Given the description of an element on the screen output the (x, y) to click on. 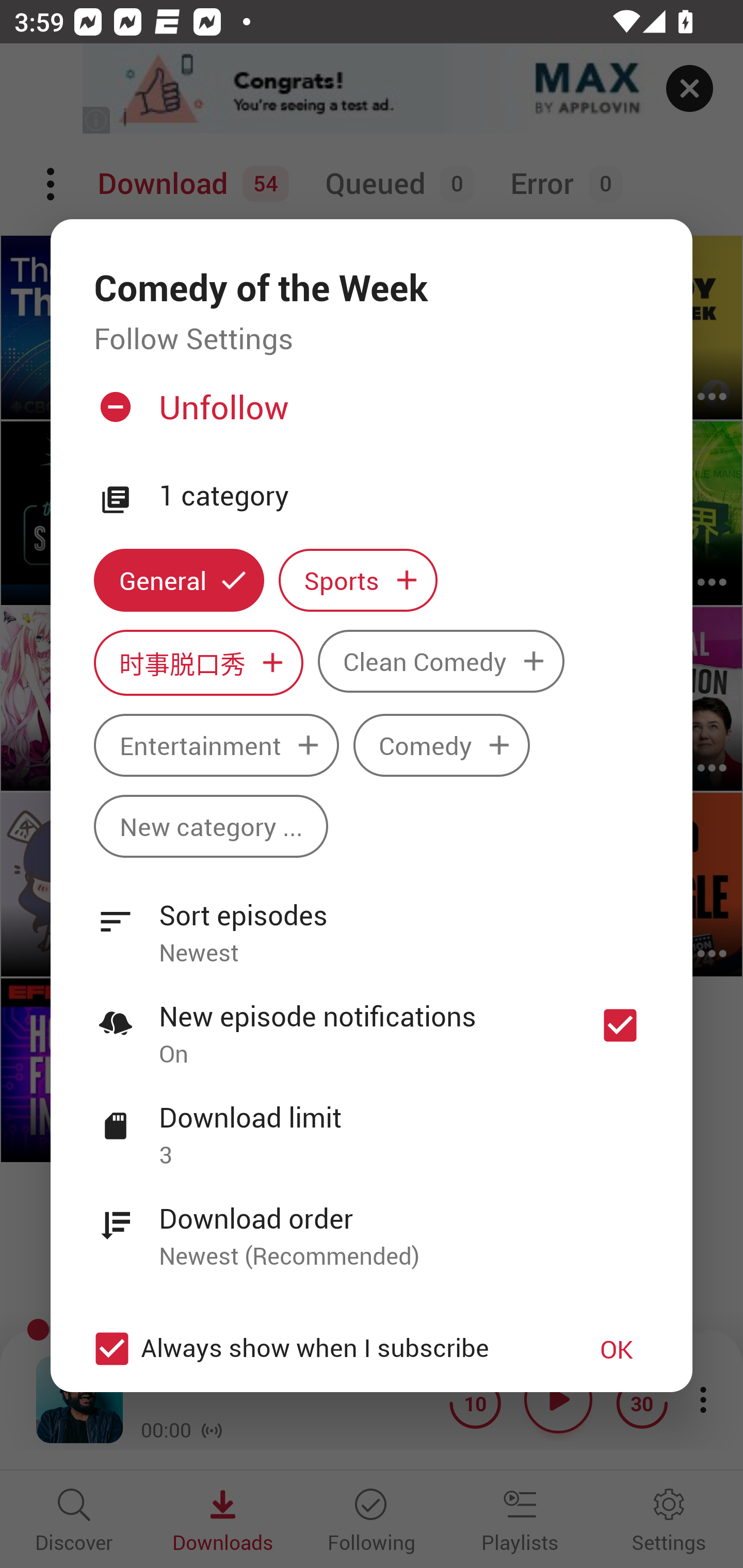
Unfollow (369, 415)
1 category (404, 495)
General (178, 579)
Sports (357, 579)
时事脱口秀 (198, 663)
Clean Comedy (441, 661)
Entertainment (215, 744)
Comedy (441, 744)
New category ... (210, 825)
Sort episodes Newest (371, 922)
New episode notifications (620, 1025)
Download limit 3 (371, 1125)
Download order Newest (Recommended) (371, 1226)
OK (616, 1349)
Always show when I subscribe (320, 1349)
